Given the description of an element on the screen output the (x, y) to click on. 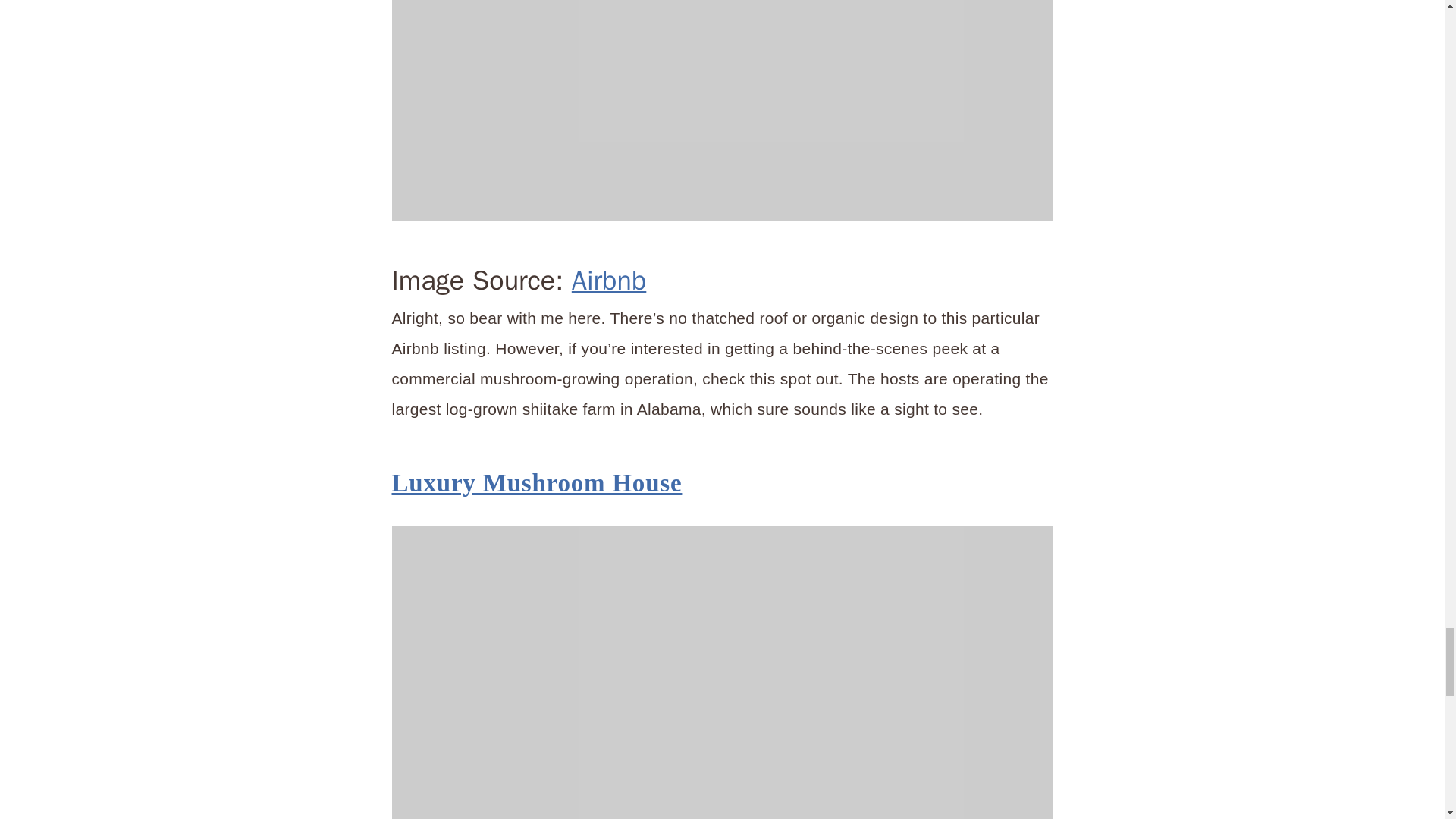
Luxury Mushroom House (536, 482)
Airbnb (609, 280)
